Given the description of an element on the screen output the (x, y) to click on. 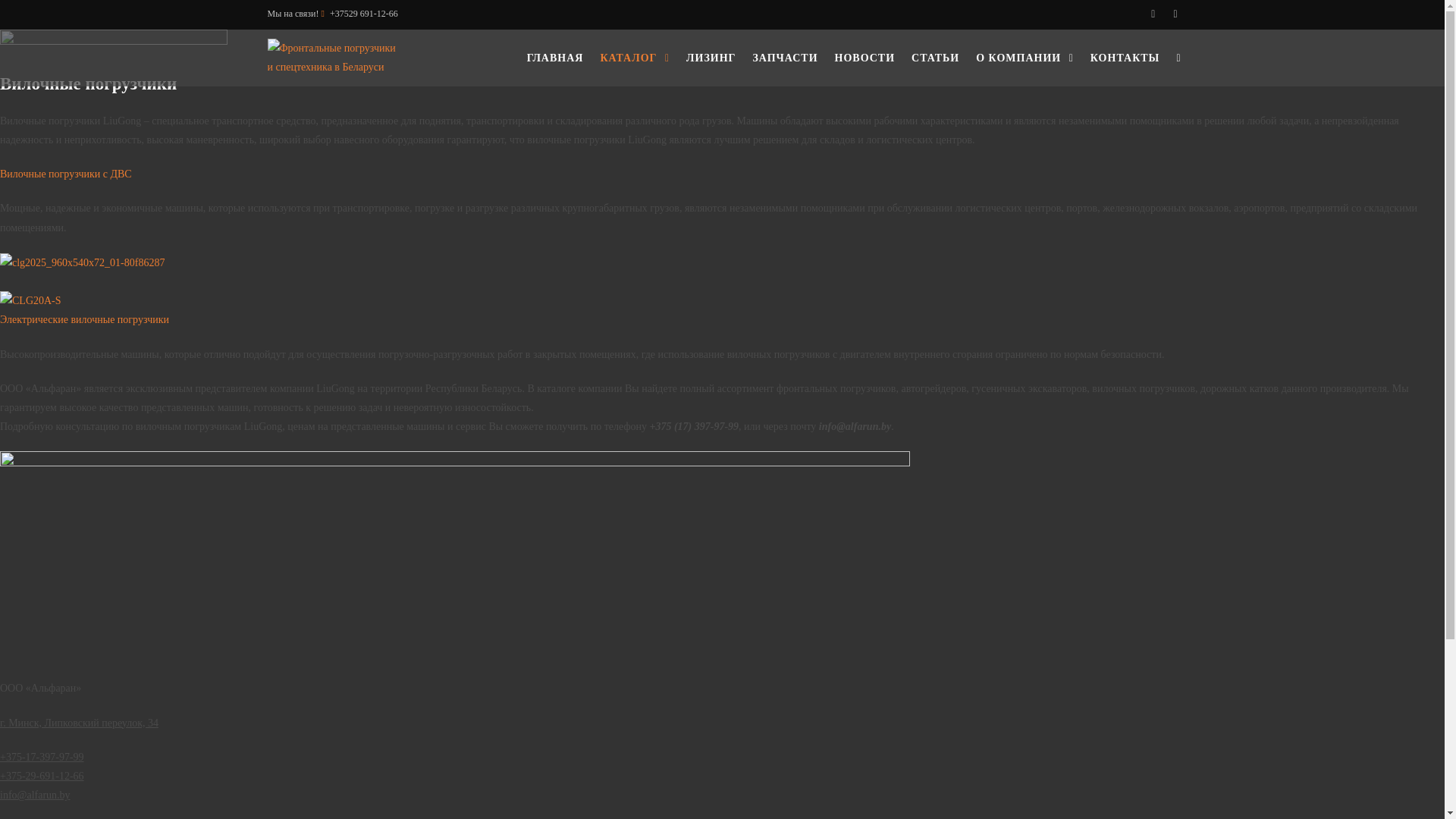
+37529 691-12-66 Element type: text (363, 13)
CLG20A-S Element type: hover (30, 300)
clg2025_960x540x72_01-80f86287 Element type: hover (82, 262)
